Given the description of an element on the screen output the (x, y) to click on. 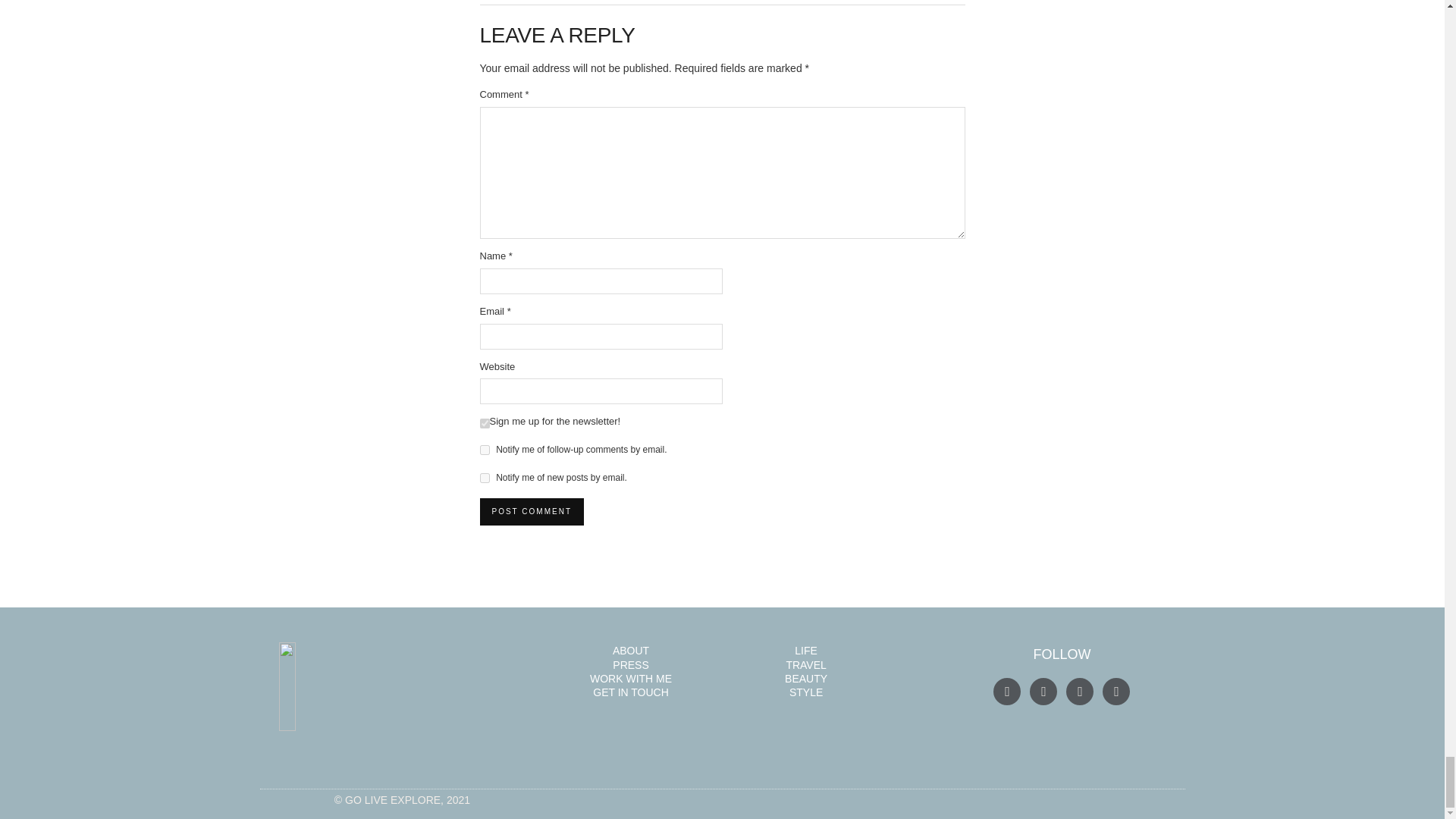
subscribe (484, 450)
Post Comment (531, 511)
1 (484, 423)
subscribe (484, 478)
